Given the description of an element on the screen output the (x, y) to click on. 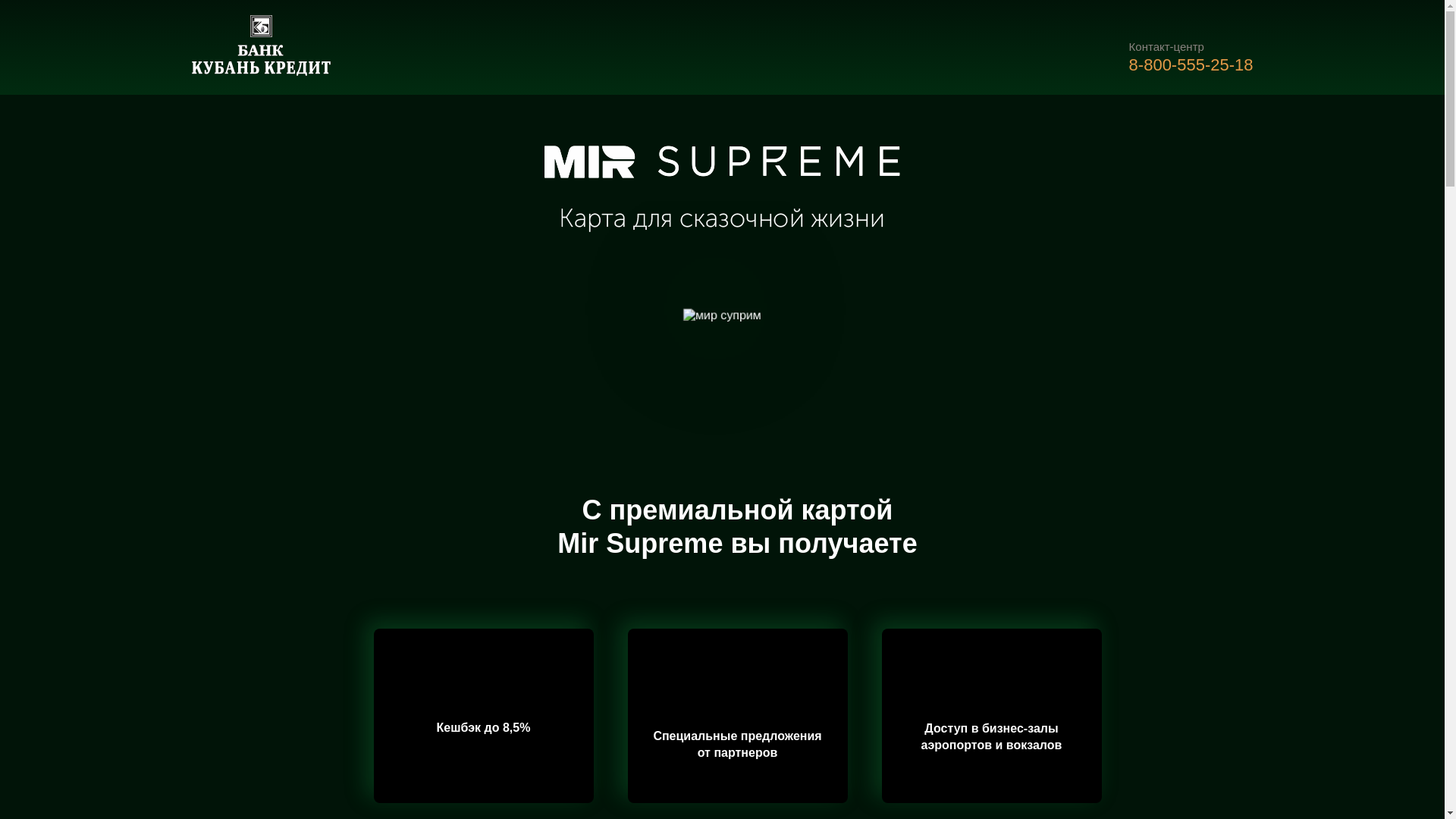
8-800-555-25-18 Element type: text (1191, 64)
